Given the description of an element on the screen output the (x, y) to click on. 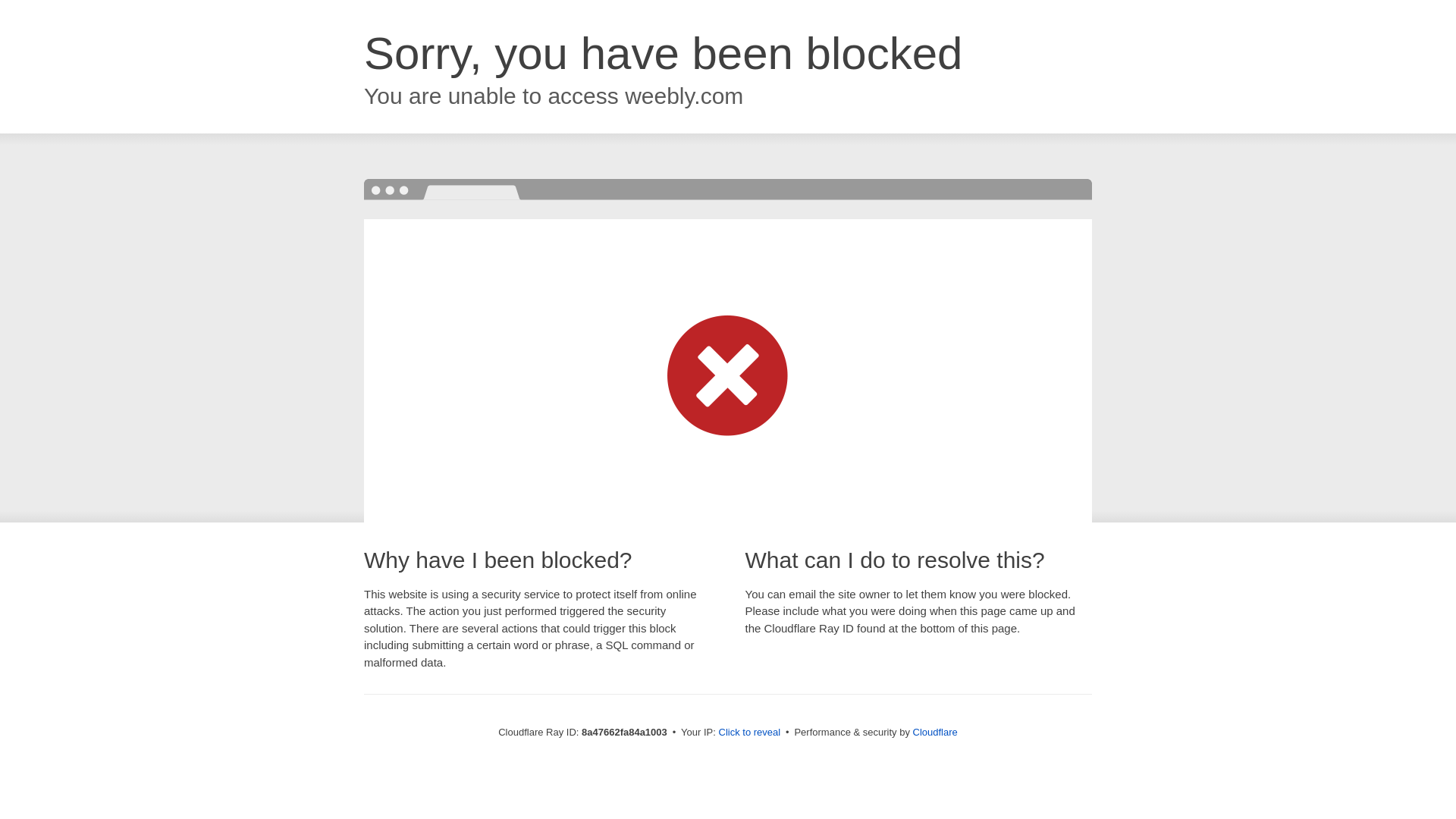
Cloudflare (935, 731)
Click to reveal (749, 732)
